Given the description of an element on the screen output the (x, y) to click on. 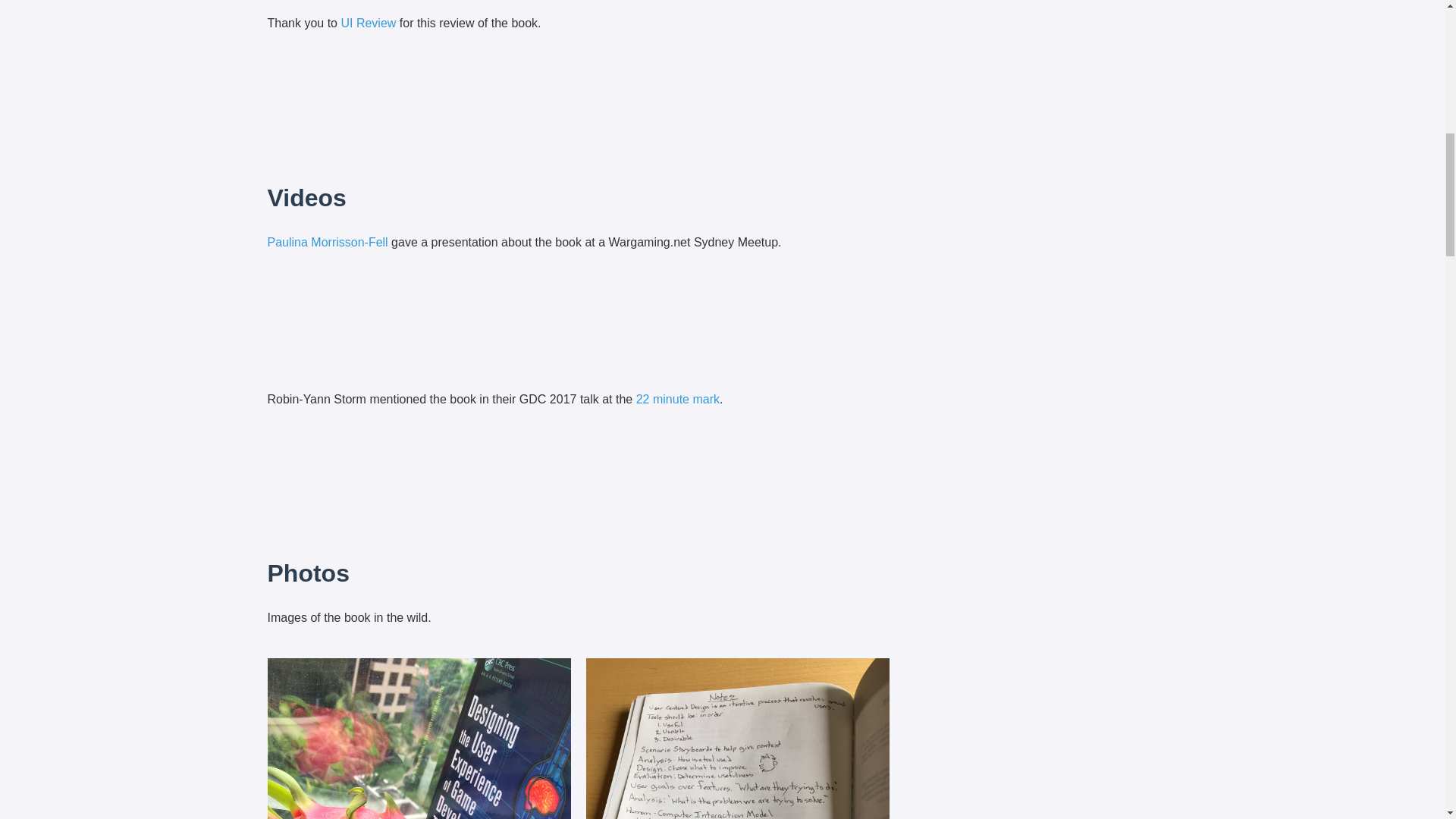
UI Review (368, 22)
22 minute mark (677, 399)
Paulina Morrisson-Fell (326, 241)
